Given the description of an element on the screen output the (x, y) to click on. 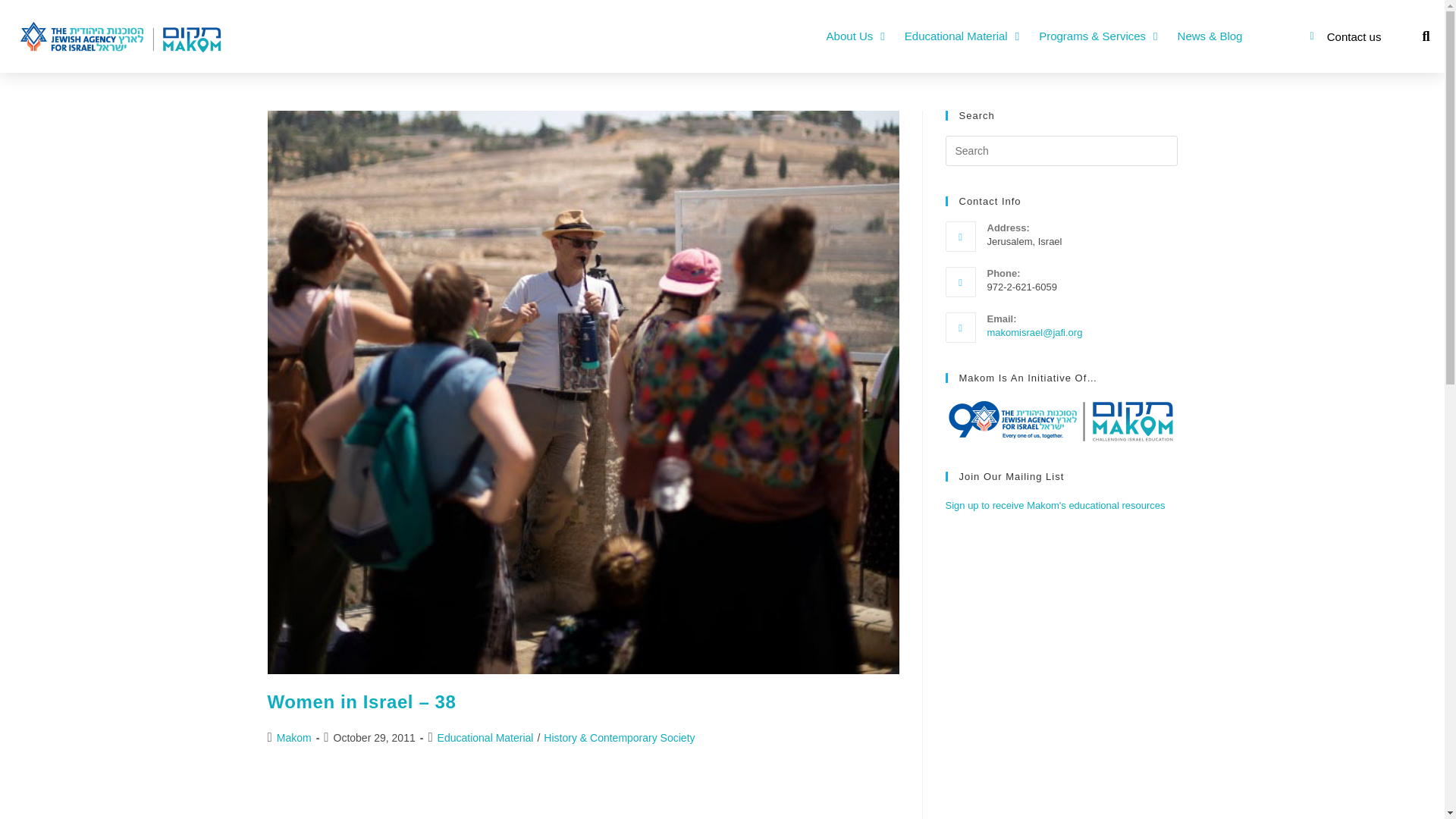
About Us (855, 36)
Posts by Makom (293, 737)
Educational Material (962, 36)
